Given the description of an element on the screen output the (x, y) to click on. 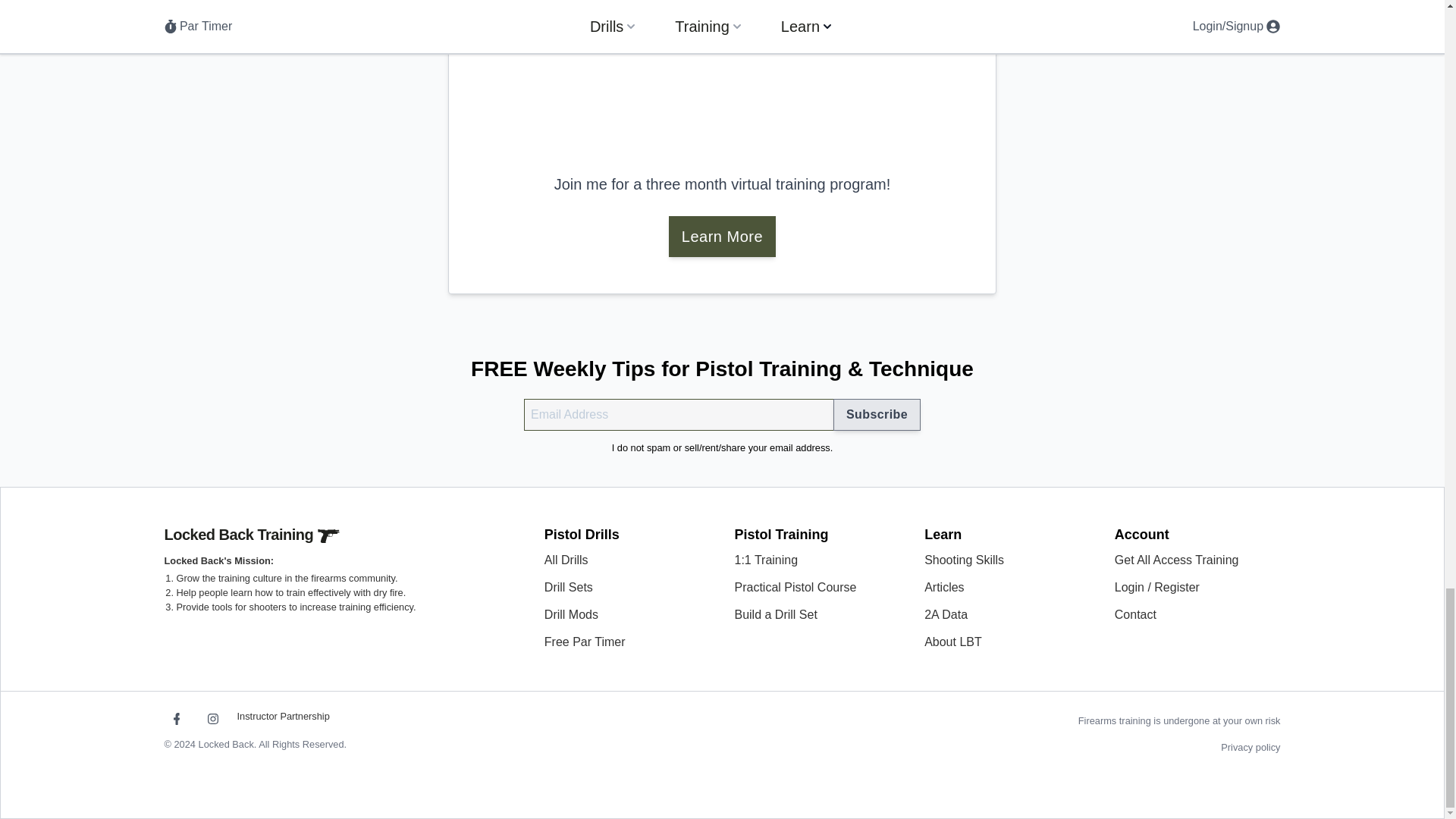
All Drills (566, 559)
Locked Back Training (251, 534)
Locked Back's Mission: (218, 560)
Subscribe (876, 414)
Drill Sets (568, 587)
Learn More (722, 236)
Practical Pistol Course (721, 70)
